Given the description of an element on the screen output the (x, y) to click on. 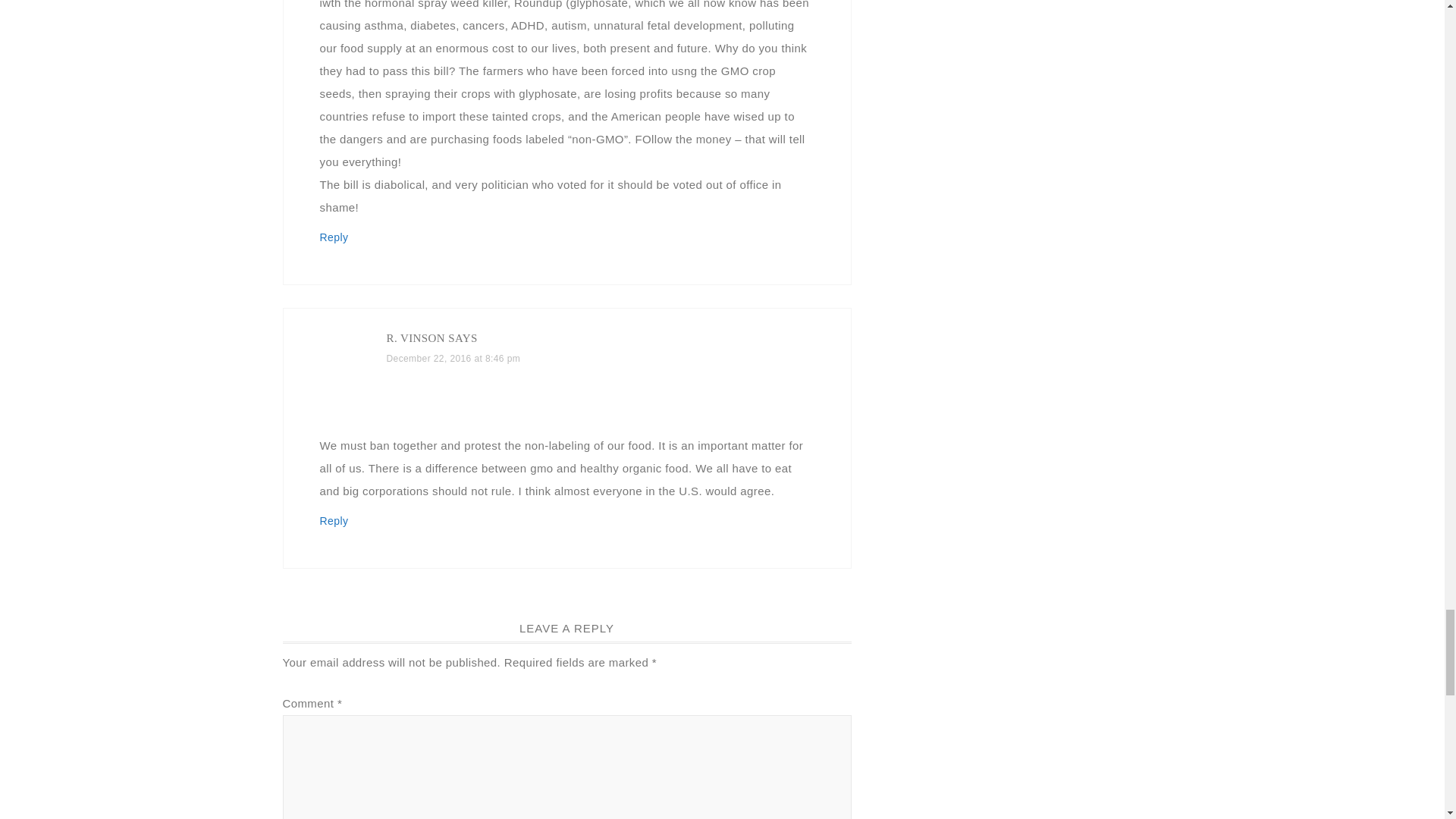
December 22, 2016 at 8:46 pm (454, 357)
Reply (334, 521)
Reply (334, 236)
